Given the description of an element on the screen output the (x, y) to click on. 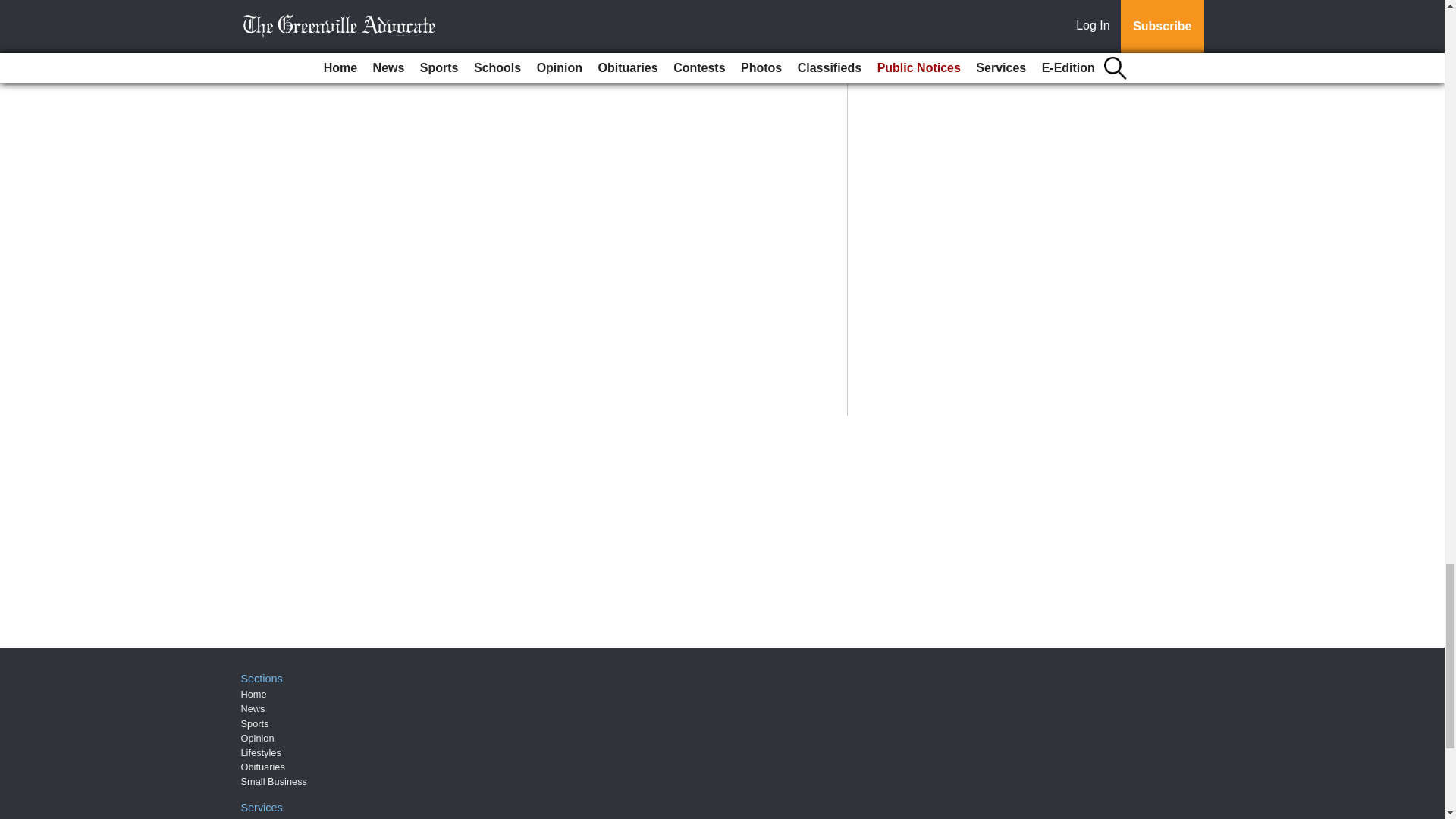
Print Article (384, 27)
